Given the description of an element on the screen output the (x, y) to click on. 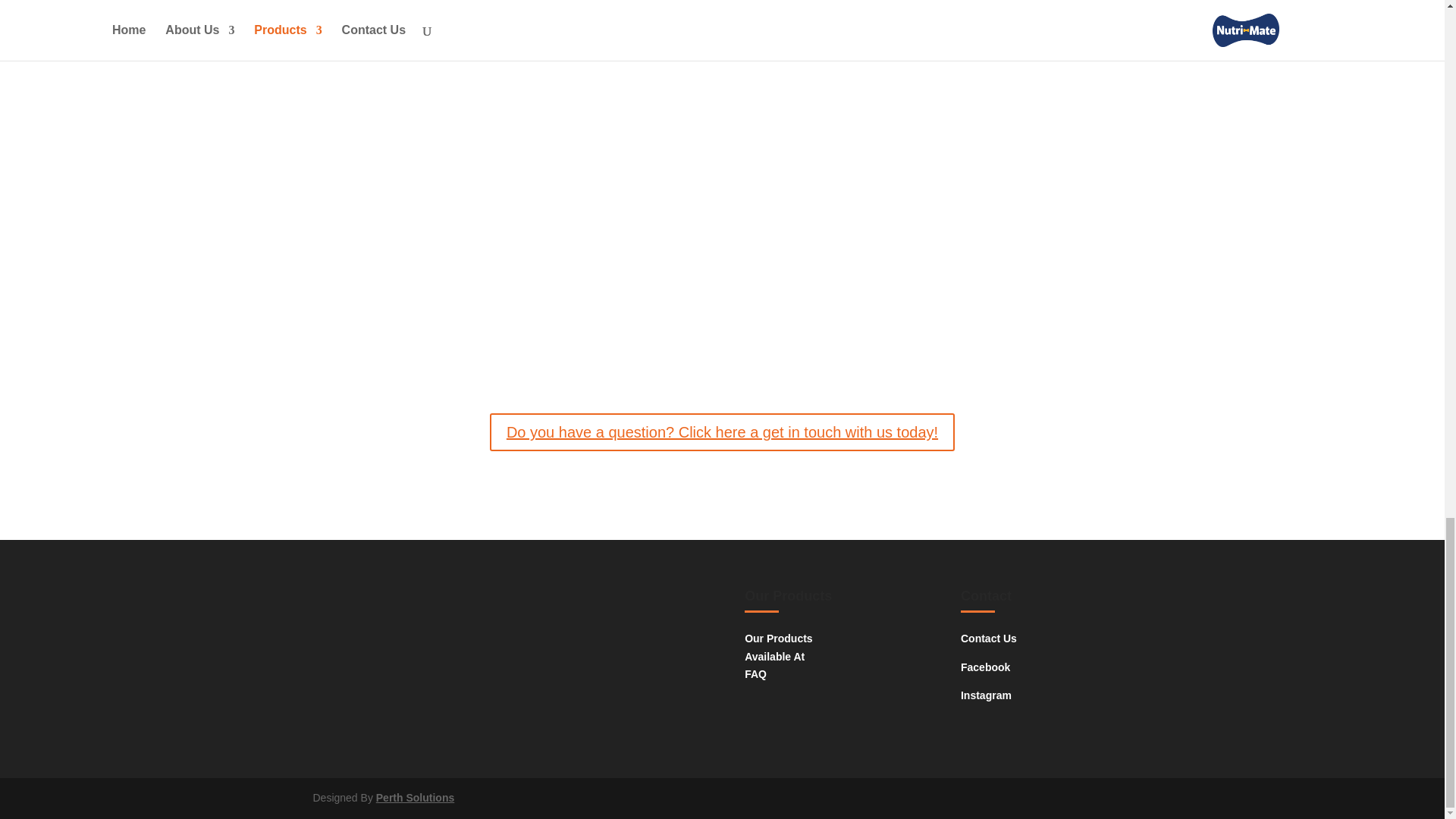
Contact Us (988, 638)
FAQ (755, 674)
Perth Solutions (414, 797)
Instagram (985, 695)
Available At (774, 656)
Our Products (778, 638)
Facebook (985, 666)
